Given the description of an element on the screen output the (x, y) to click on. 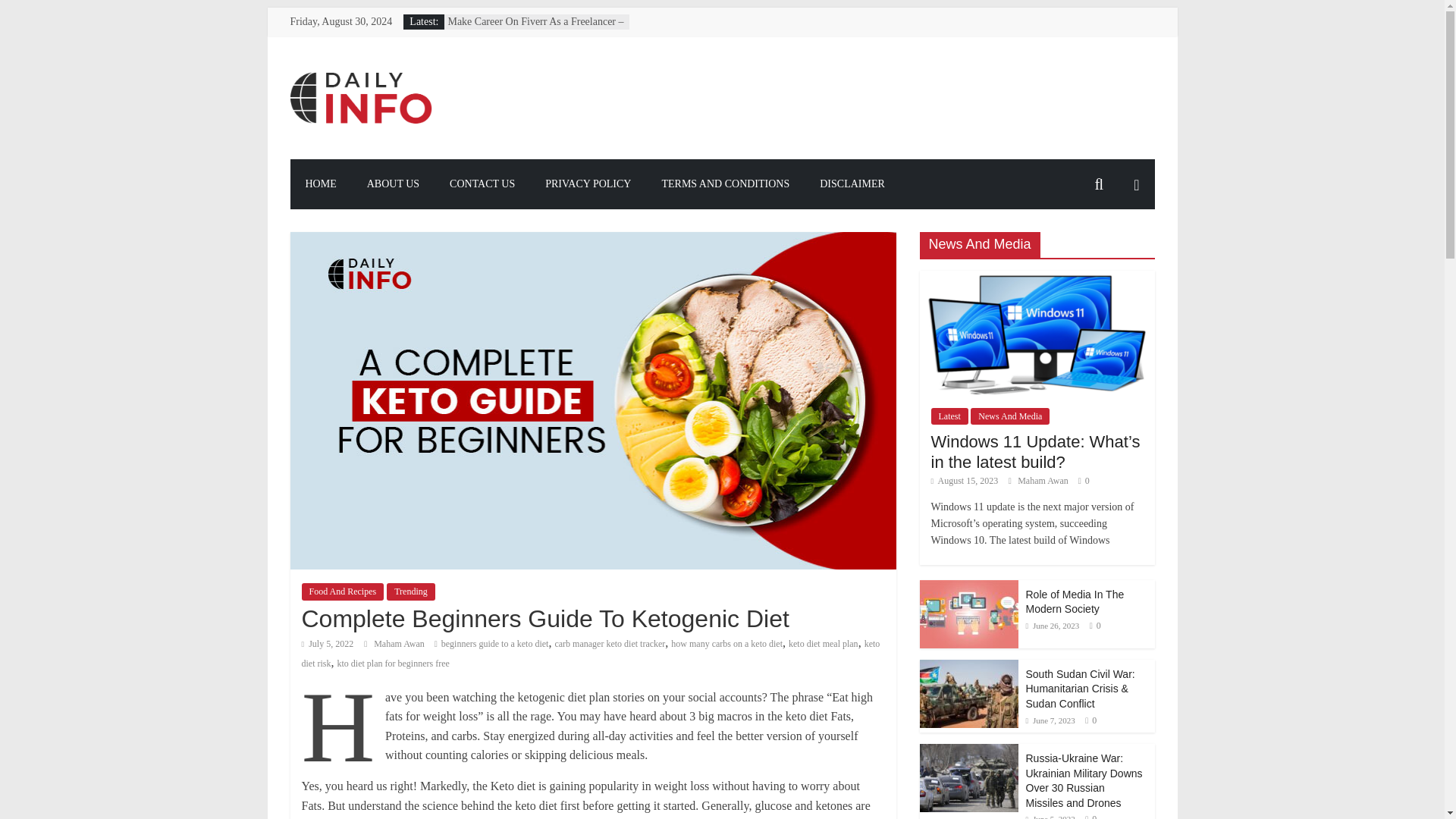
how many carbs on a keto diet (727, 643)
TERMS AND CONDITIONS (725, 183)
HOME (319, 183)
keto diet risk (590, 653)
DISCLAIMER (852, 183)
Maham Awan (1043, 480)
Role of Media In The Modern Society (967, 587)
Food And Recipes (342, 591)
Maham Awan (400, 643)
July 5, 2022 (327, 643)
